Given the description of an element on the screen output the (x, y) to click on. 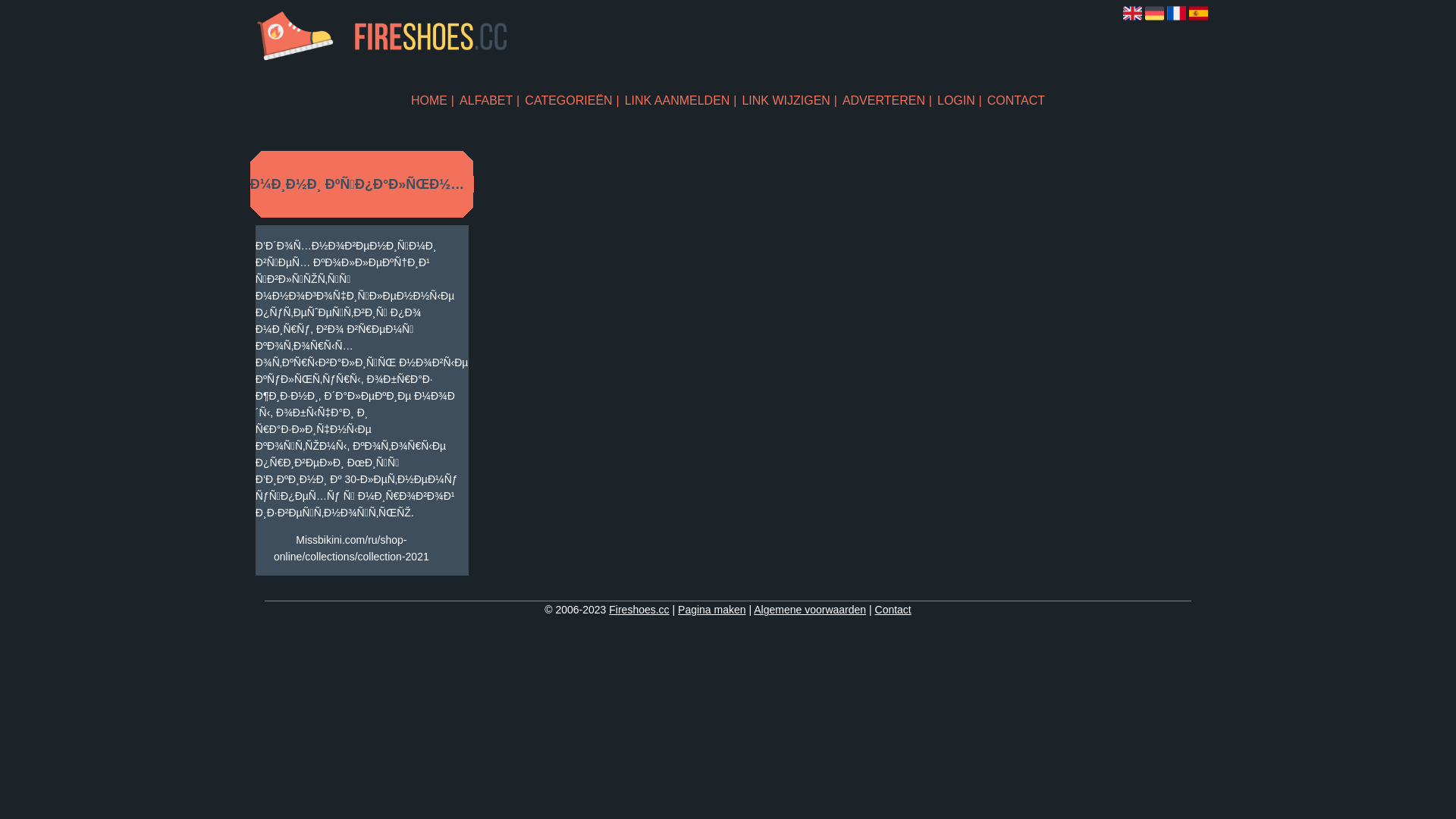
Contact Element type: text (893, 609)
Missbikini.com/ru/shop-online/collections/collection-2021 Element type: text (351, 547)
Algemene voorwaarden Element type: text (809, 609)
Fireshoes.cc Element type: text (638, 609)
ADVERTEREN Element type: text (886, 100)
CONTACT Element type: text (1015, 100)
LOGIN Element type: text (959, 100)
HOME Element type: text (432, 100)
LINK WIJZIGEN Element type: text (788, 100)
ALFABET Element type: text (489, 100)
LINK AANMELDEN Element type: text (680, 100)
Pagina maken Element type: text (711, 609)
